Given the description of an element on the screen output the (x, y) to click on. 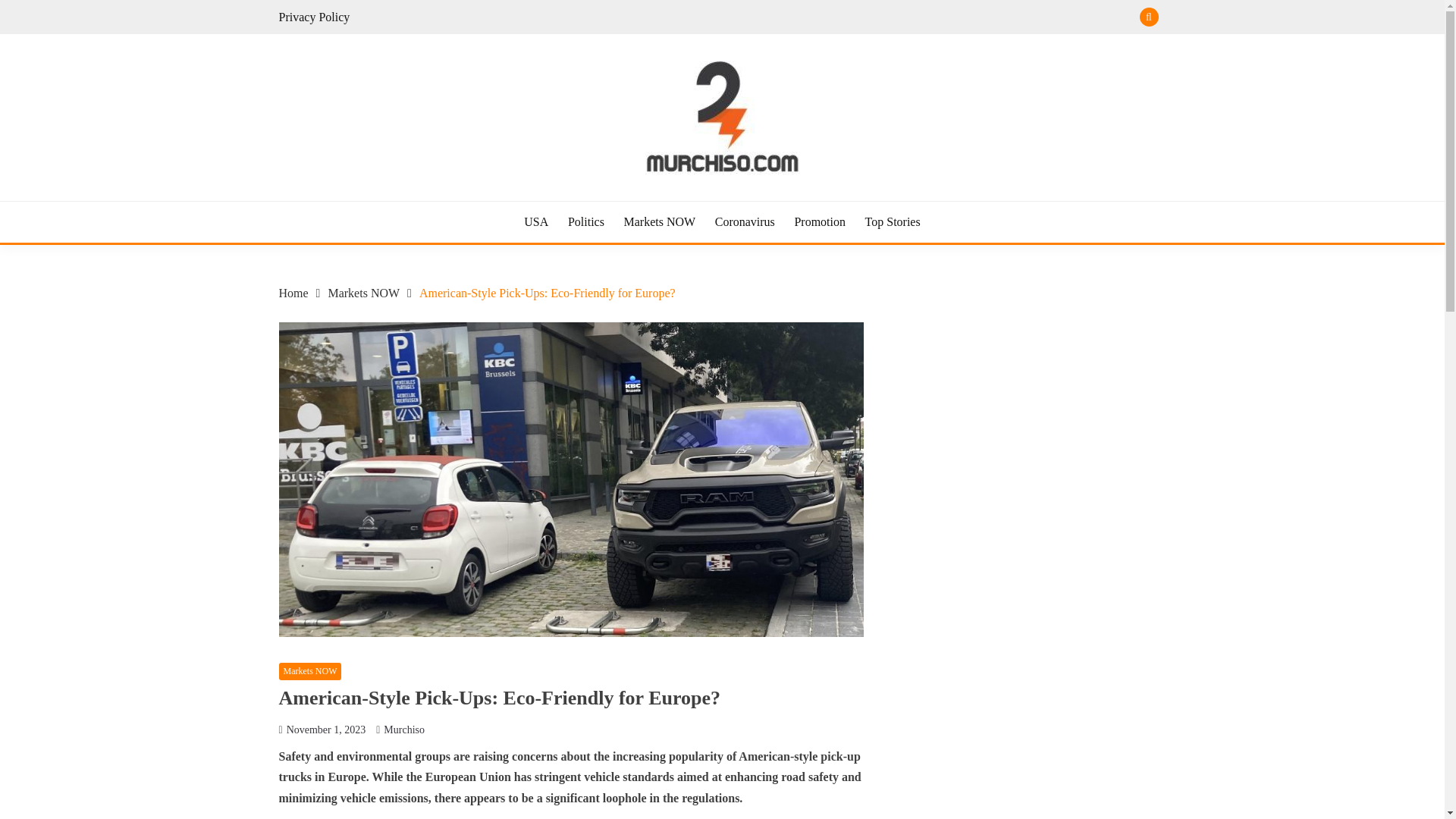
November 1, 2023 (326, 729)
Top Stories (892, 221)
Murchiso (404, 729)
Home (293, 292)
Coronavirus (744, 221)
USA (536, 221)
Markets NOW (659, 221)
Search (832, 18)
Privacy Policy (314, 16)
Promotion (819, 221)
American-Style Pick-Ups: Eco-Friendly for Europe? (547, 292)
Politics (585, 221)
Markets NOW (362, 292)
Markets NOW (310, 671)
